Given the description of an element on the screen output the (x, y) to click on. 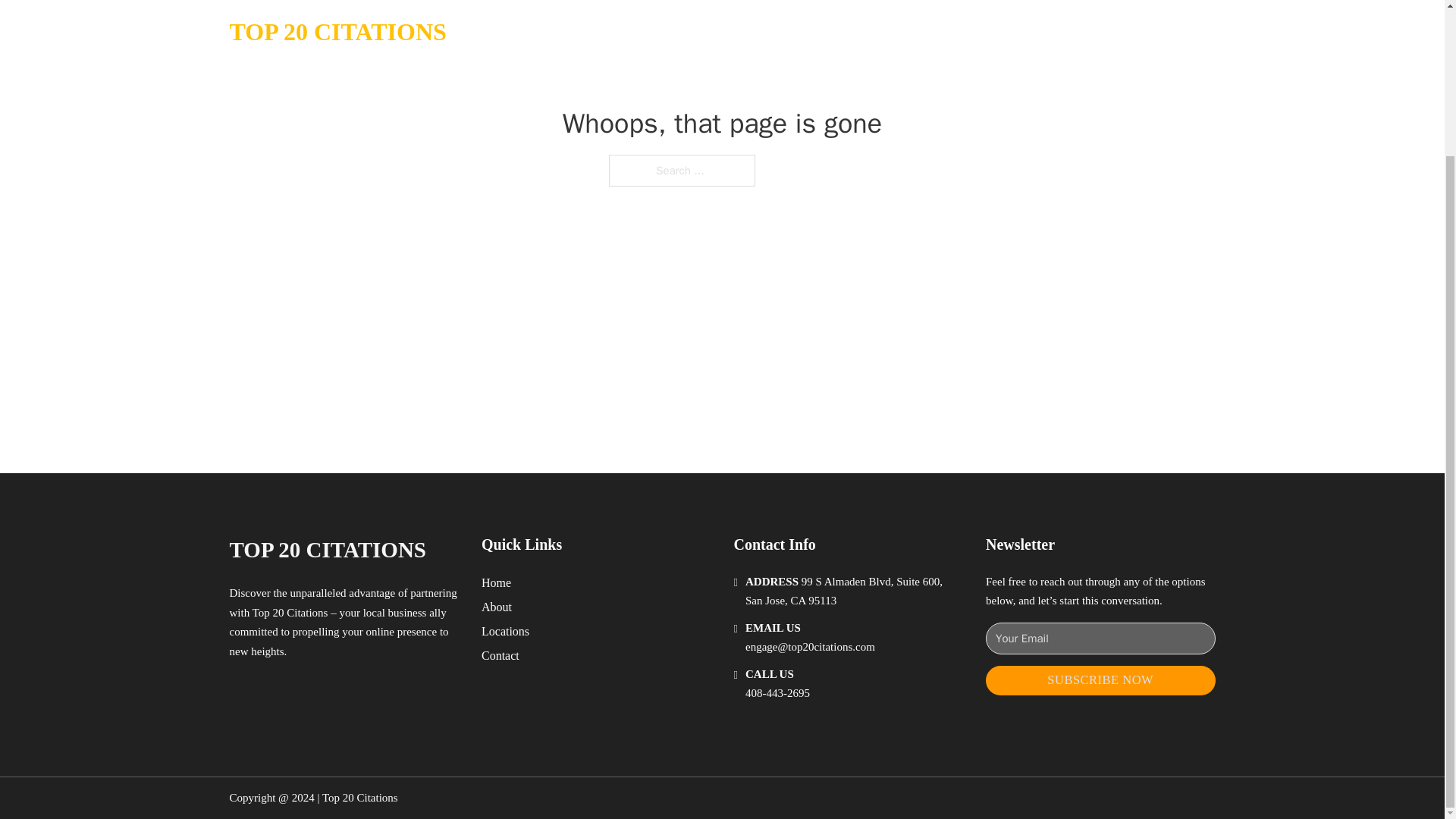
About (496, 607)
SUBSCRIBE NOW (1100, 680)
Locations (505, 630)
Home (496, 582)
TOP 20 CITATIONS (326, 549)
Contact (500, 655)
408-443-2695 (777, 693)
